Given the description of an element on the screen output the (x, y) to click on. 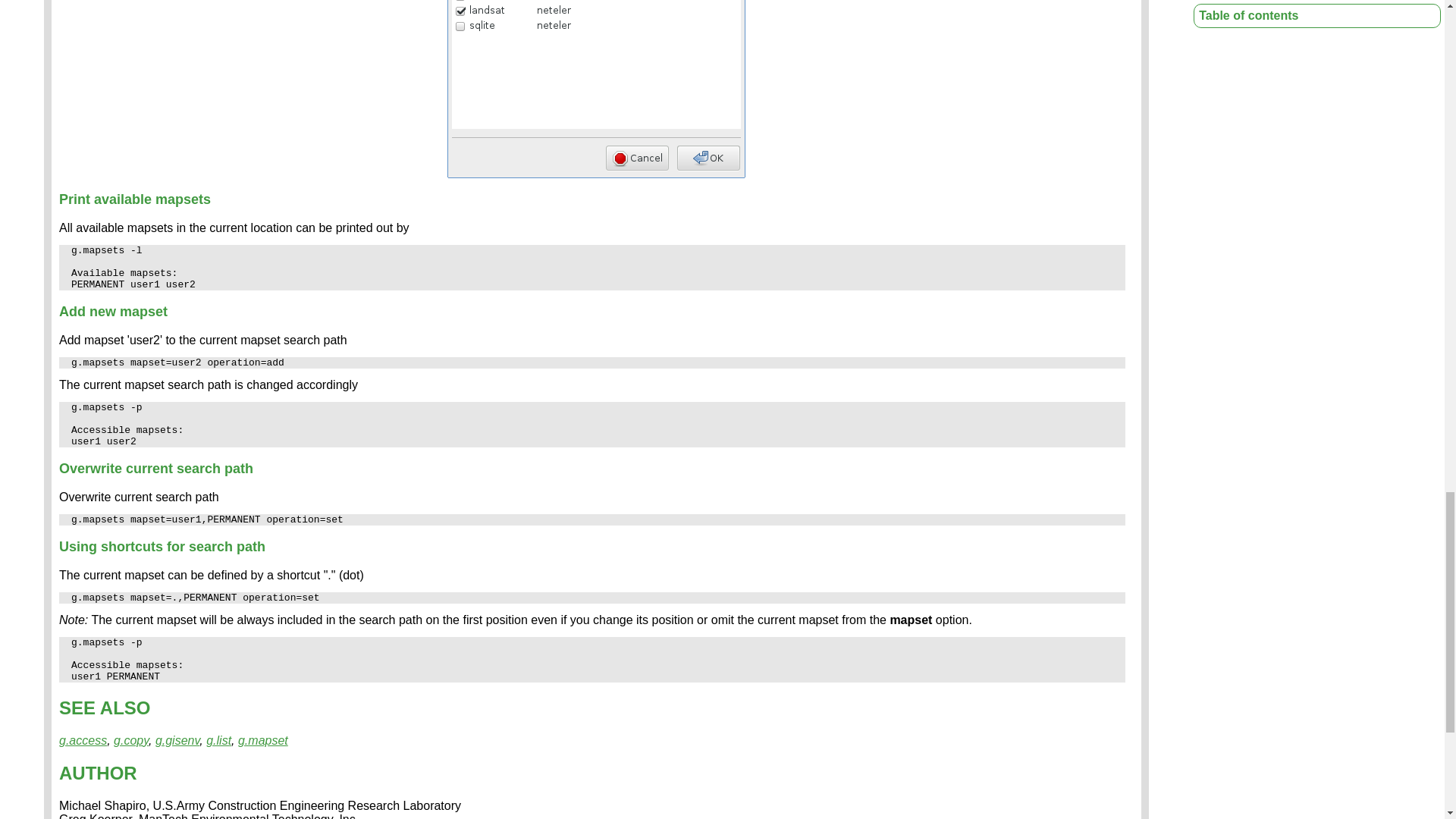
Print available mapsets (135, 199)
g.gisenv (177, 739)
Overwrite current search path (156, 468)
SEE ALSO (104, 707)
AUTHOR (97, 772)
g.list (218, 739)
Using shortcuts for search path (161, 546)
g.mapset (263, 739)
g.copy (130, 739)
g.access (82, 739)
Add new mapset (113, 311)
